Given the description of an element on the screen output the (x, y) to click on. 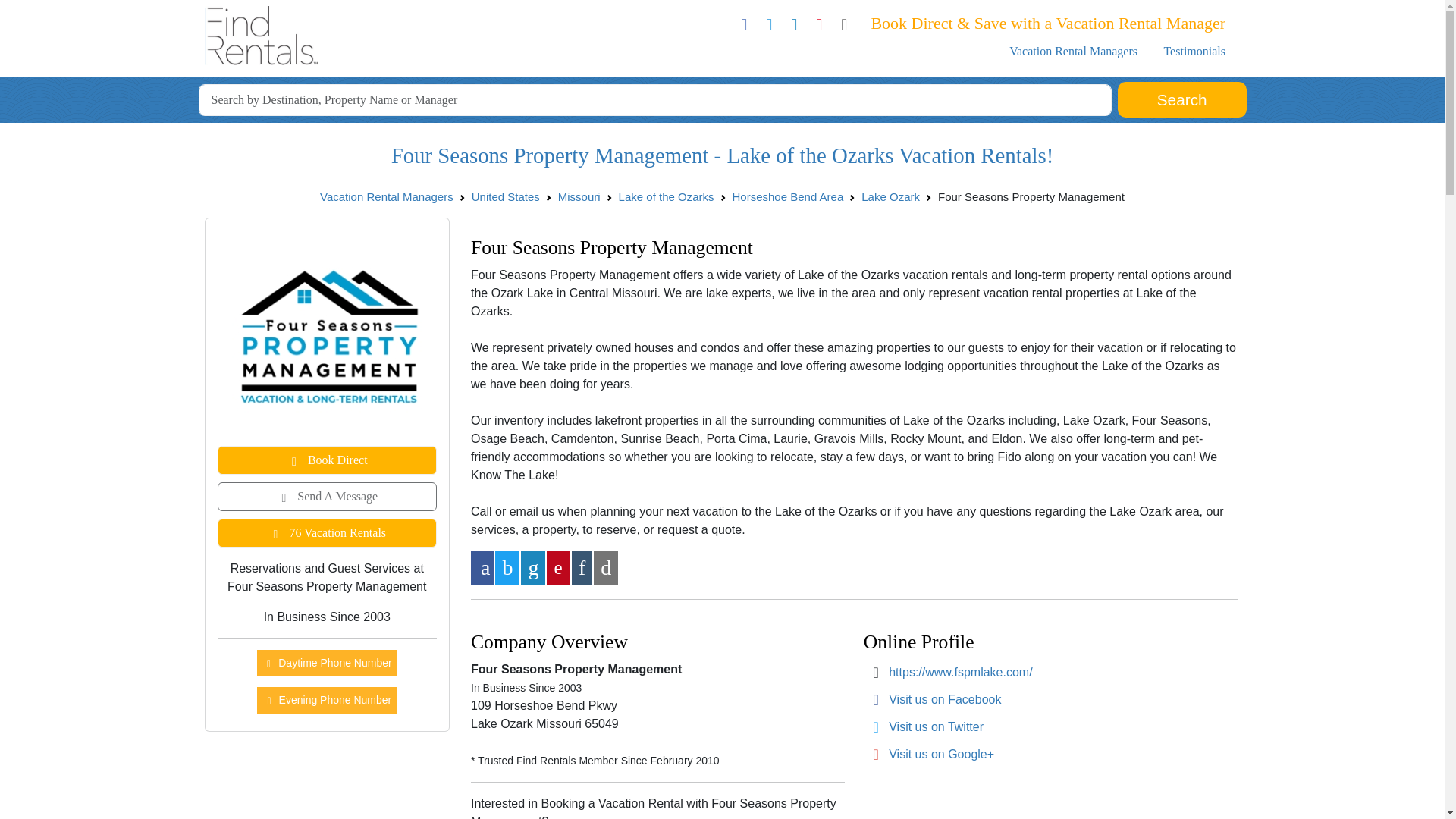
Vacation Rental Managers (1073, 51)
Visit us on Twitter (936, 726)
Testimonials (1194, 51)
Missouri (578, 196)
Send A Message (326, 496)
Vacation Rental Managers (386, 196)
Search (1182, 99)
United States (505, 196)
Book Direct (326, 460)
76 Vacation Rentals (326, 532)
Lake of the Ozarks (666, 196)
Lake Ozark (890, 196)
Visit us on Facebook (944, 698)
Horseshoe Bend Area (788, 196)
